Given the description of an element on the screen output the (x, y) to click on. 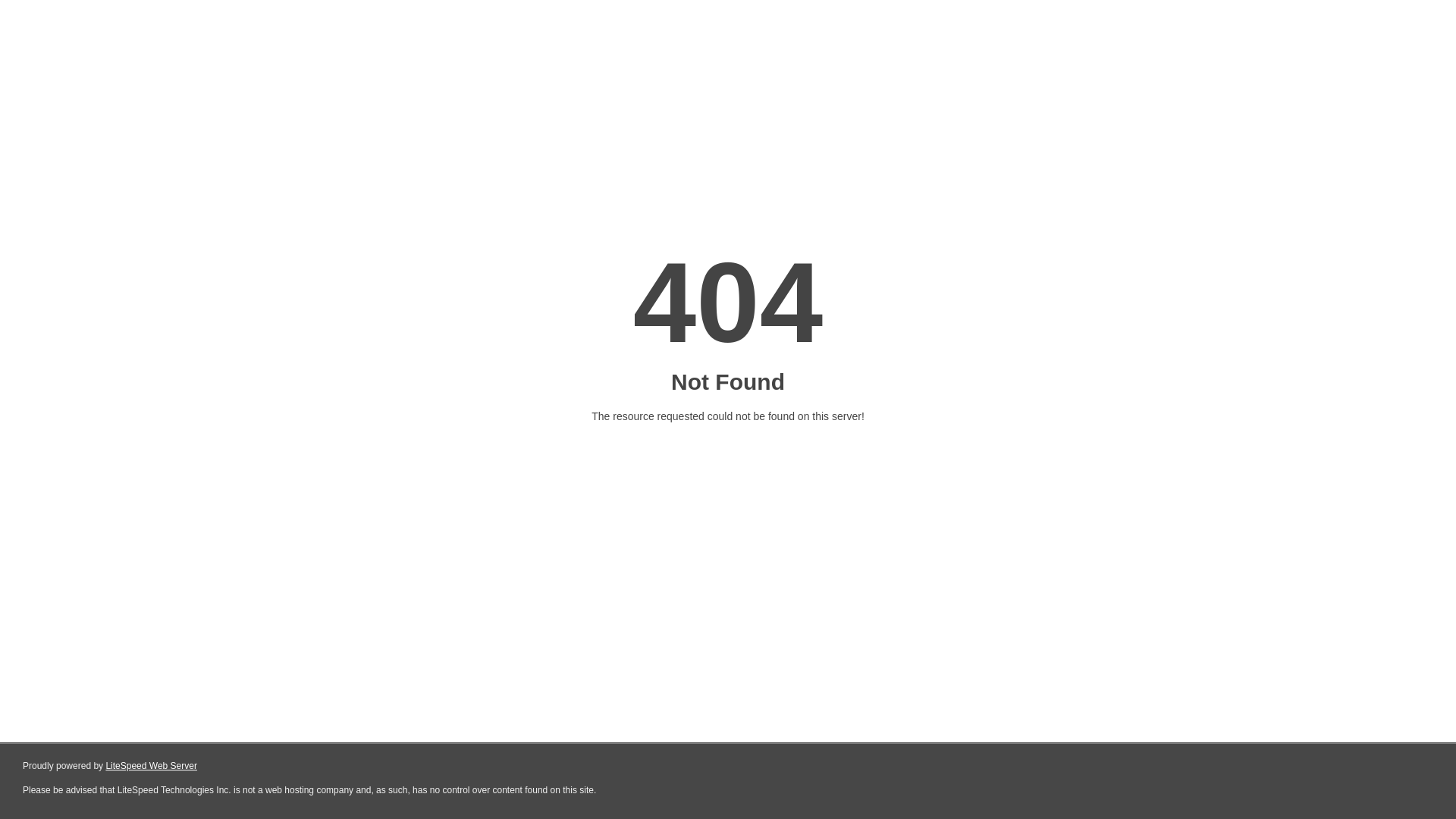
LiteSpeed Web Server Element type: text (151, 765)
